Given the description of an element on the screen output the (x, y) to click on. 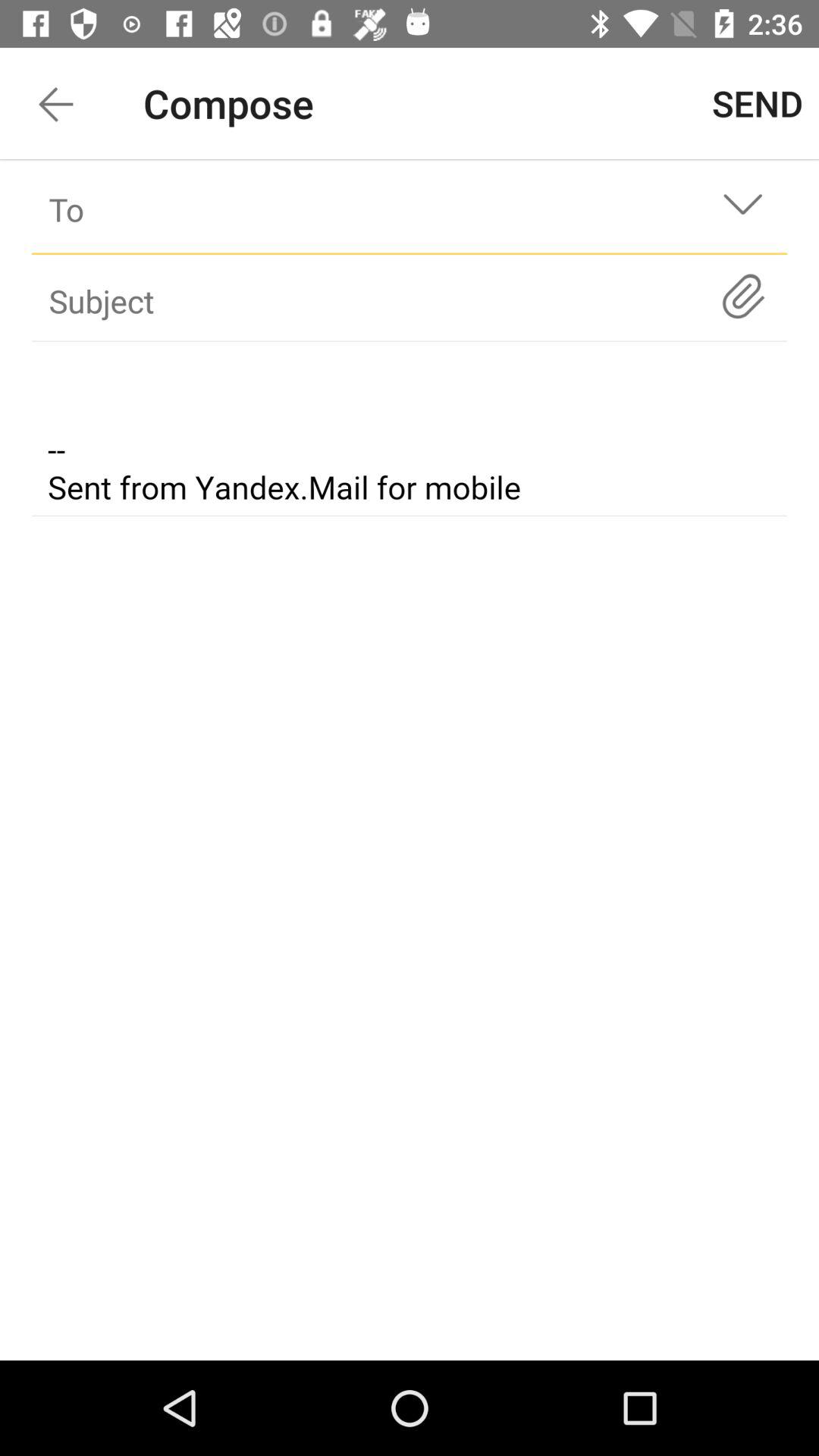
add attachment (743, 296)
